Given the description of an element on the screen output the (x, y) to click on. 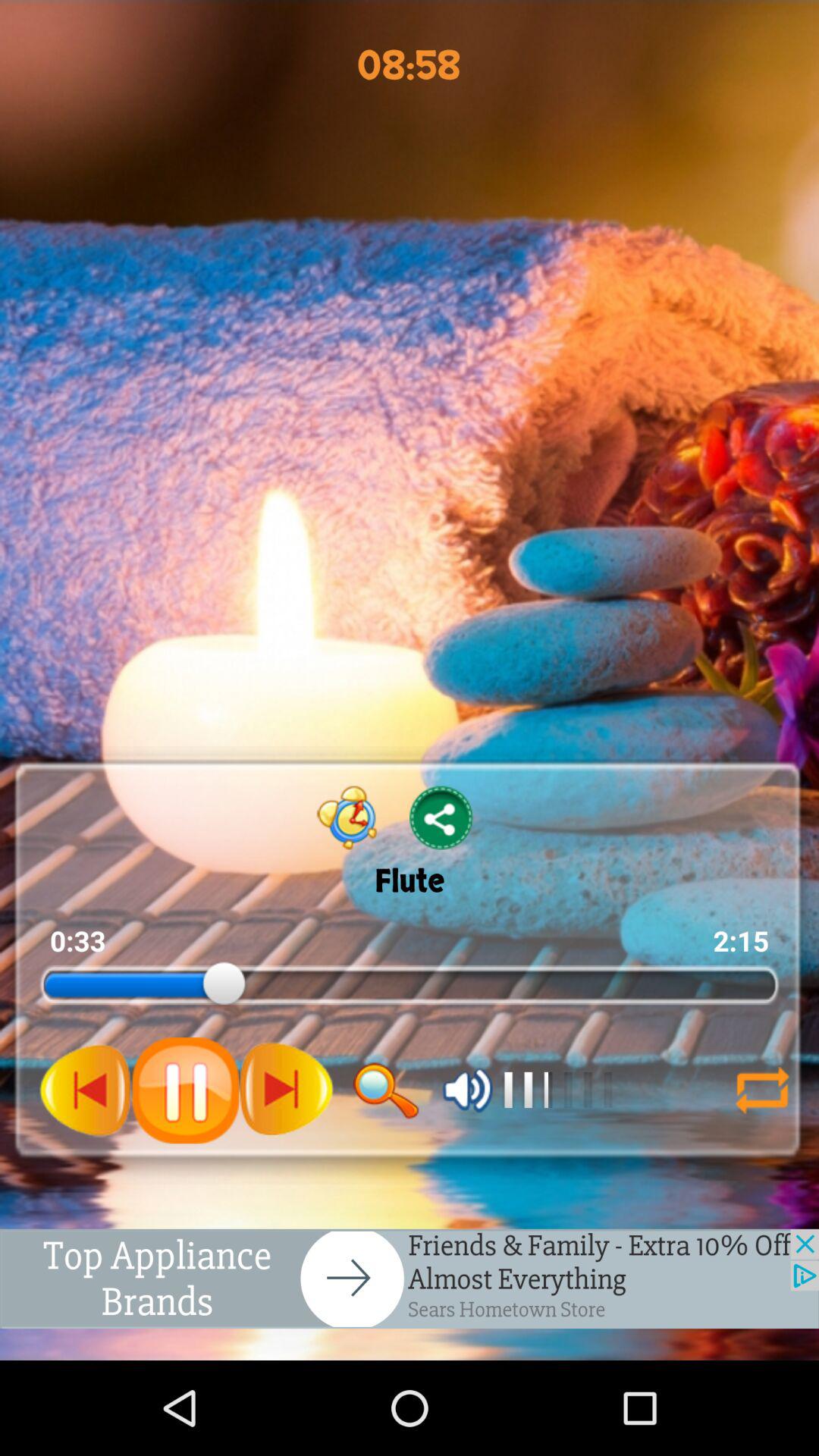
advertisement (409, 1278)
